Given the description of an element on the screen output the (x, y) to click on. 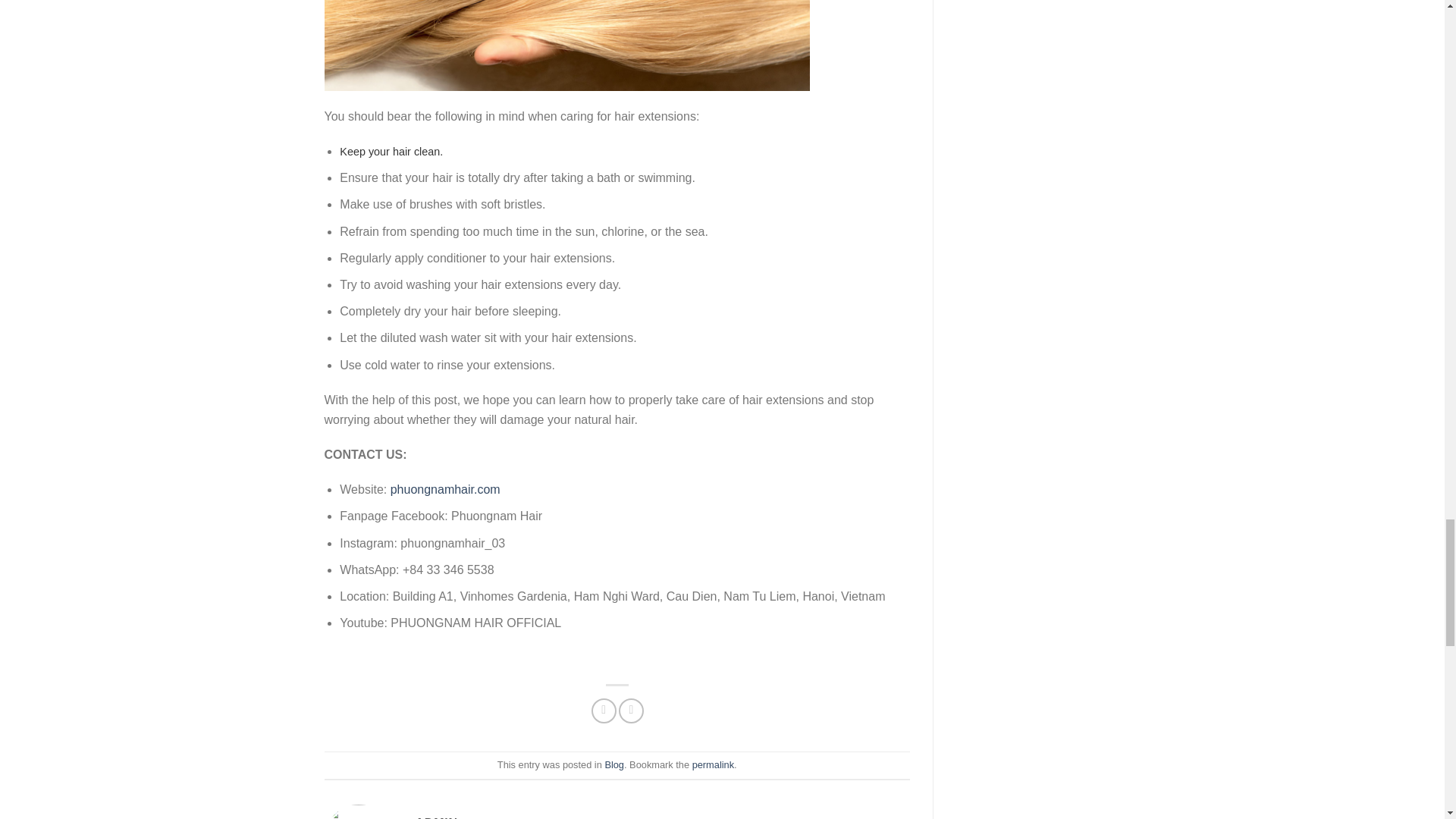
permalink (713, 764)
Permalink to CAN HAIR EXTENSIONS DAMAGE NATURAL HAIR? (713, 764)
phuongnamhair.com (443, 489)
Blog (614, 764)
